Given the description of an element on the screen output the (x, y) to click on. 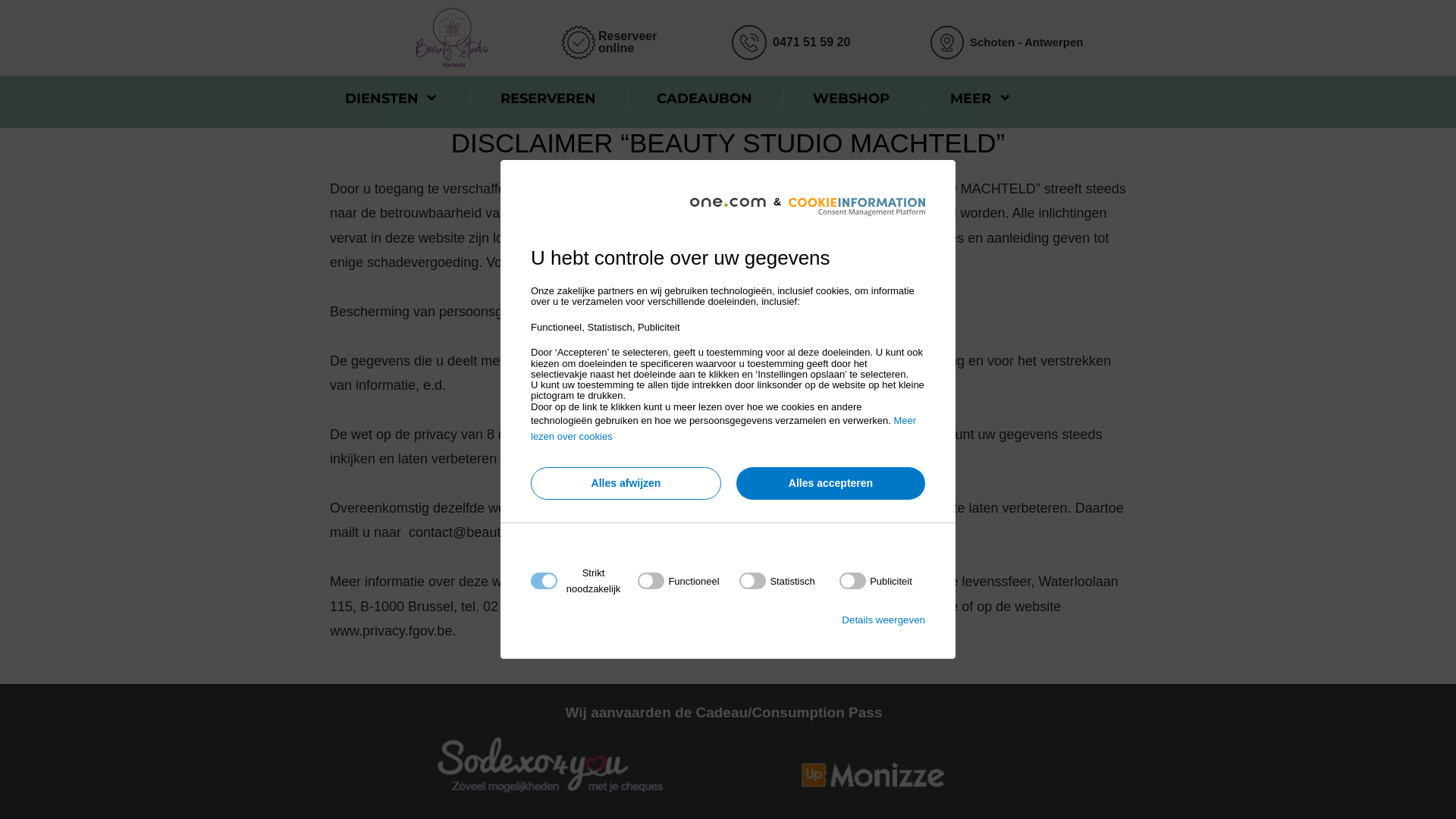
Schoten - Antwerpen Element type: text (1025, 41)
on Element type: text (875, 580)
Meer lezen over cookies Element type: text (723, 428)
on Element type: text (677, 580)
on Element type: text (776, 580)
Details weergeven Element type: text (883, 619)
Alles afwijzen Element type: text (625, 483)
WEBSHOP Element type: text (850, 98)
Alles accepteren Element type: text (830, 483)
Functioneel Element type: text (723, 763)
Reserveer online Element type: text (627, 41)
MEER Element type: text (981, 98)
Strikt noodzakelijk Element type: text (723, 673)
0471 51 59 20 Element type: text (811, 40)
DIENSTEN Element type: text (392, 98)
CADEAUBON Element type: text (704, 98)
RESERVEREN Element type: text (548, 98)
Cadeau Pass Monizze Element type: hover (872, 773)
Cadeau Pass Sodexo Element type: hover (550, 763)
